Given the description of an element on the screen output the (x, y) to click on. 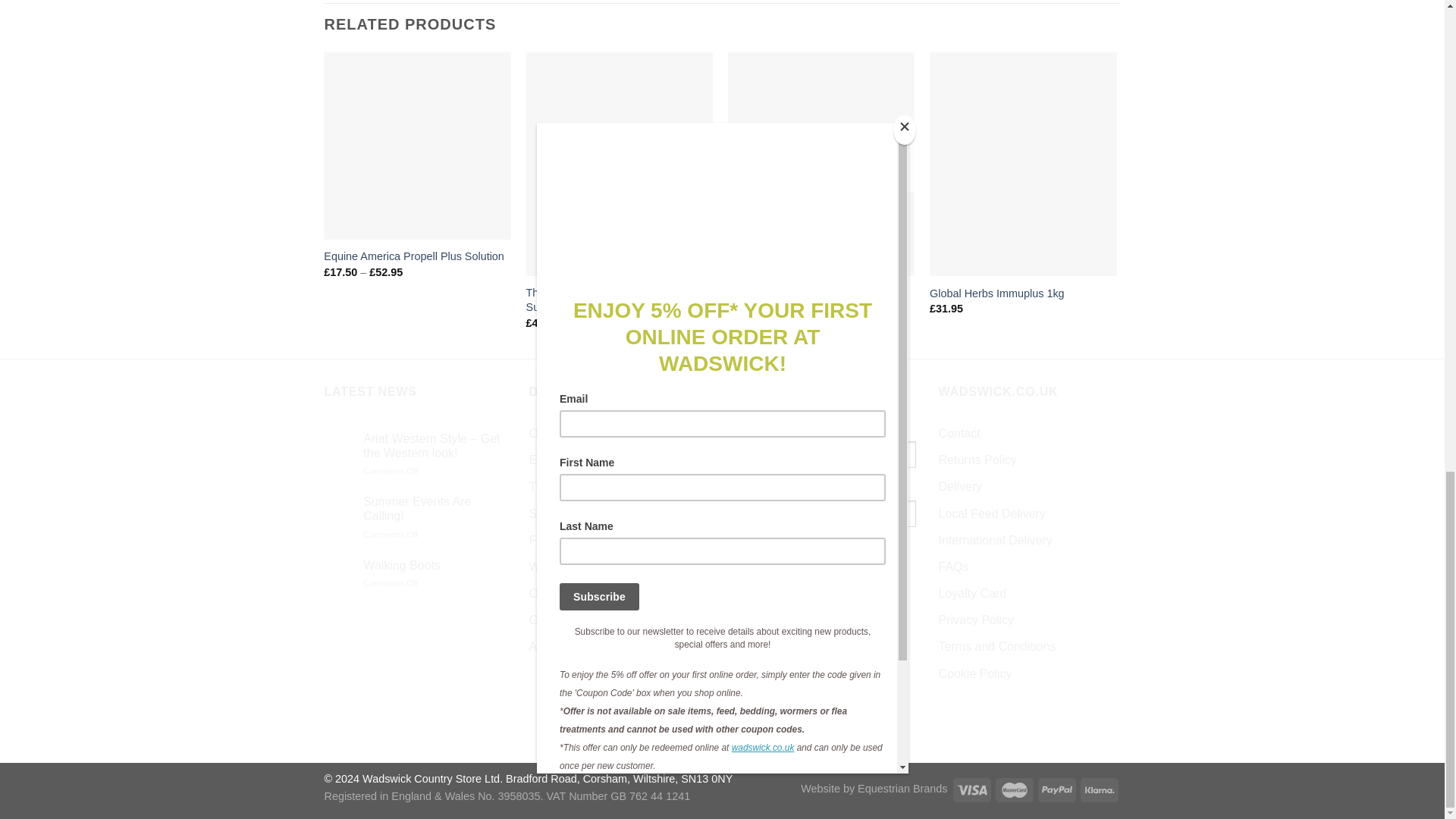
Submit (771, 555)
